Given the description of an element on the screen output the (x, y) to click on. 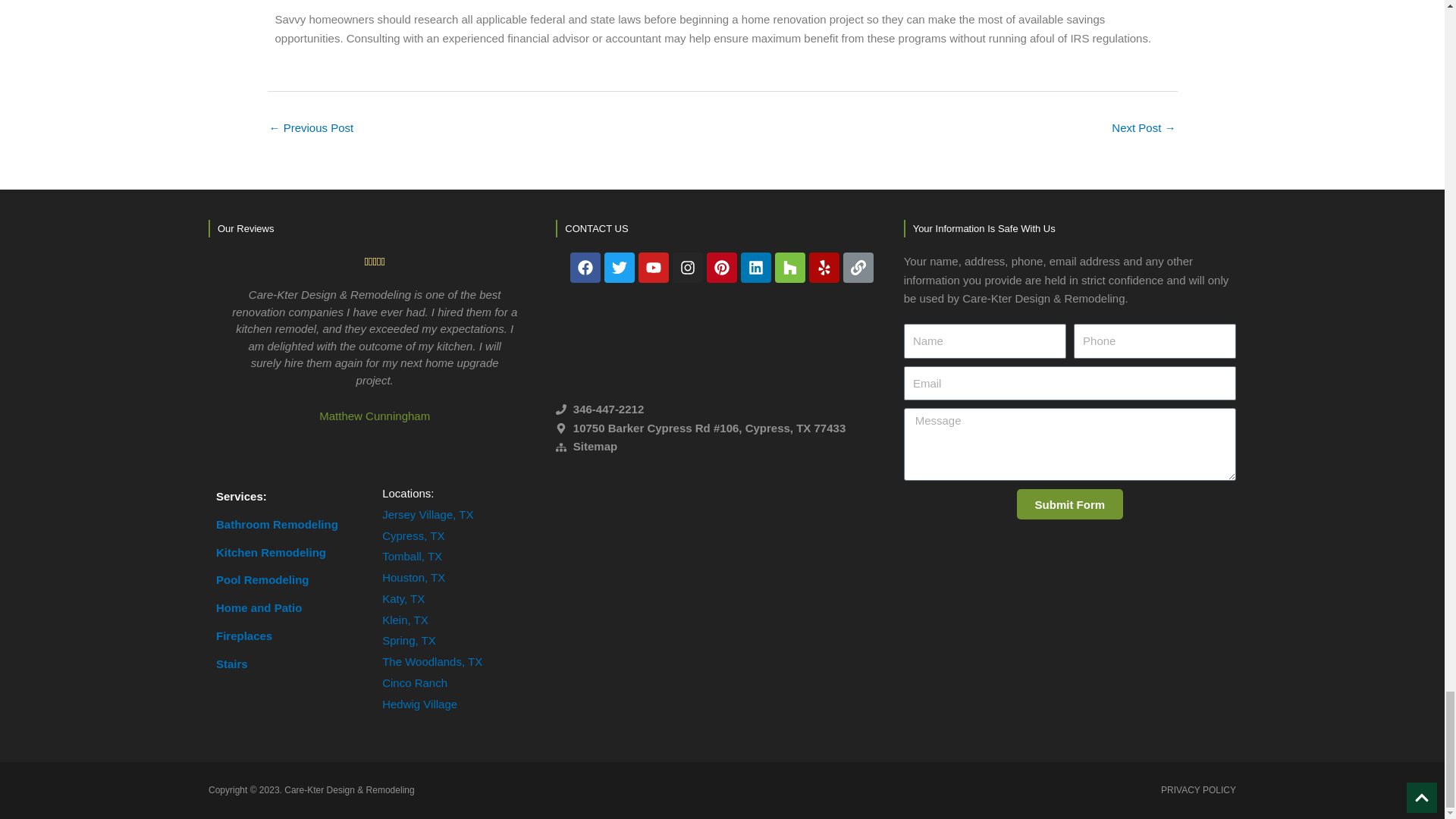
Popular Home Remodeling Trends For 2023 In Houston, TX (310, 129)
Care-Kter Quality Renovations (722, 596)
